Given the description of an element on the screen output the (x, y) to click on. 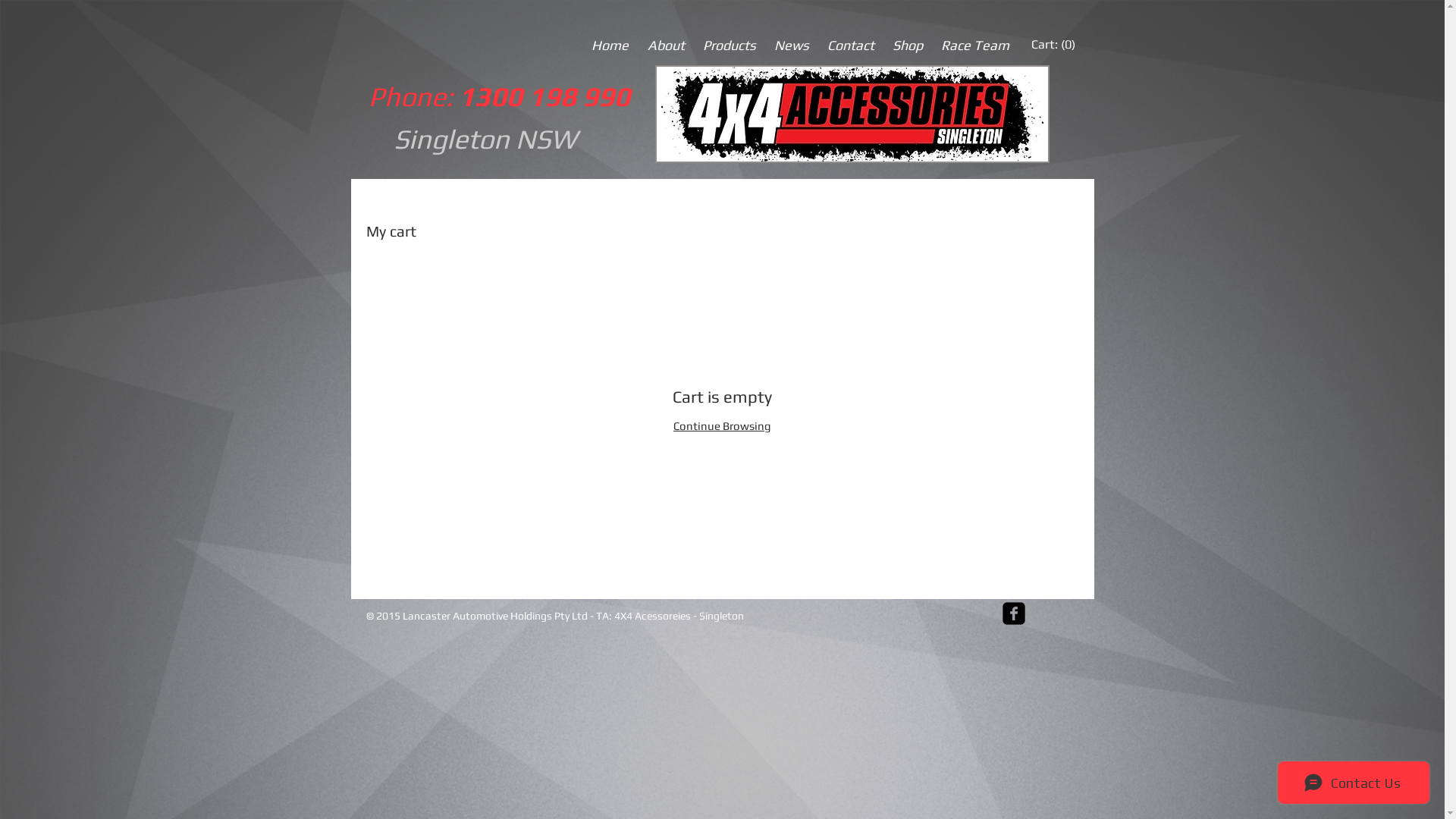
Cart: (0) Element type: text (1053, 44)
About Element type: text (665, 45)
News Element type: text (790, 45)
Home Element type: text (610, 45)
Contact Element type: text (849, 45)
Race Team Element type: text (974, 45)
Shop Element type: text (906, 45)
Continue Browsing Element type: text (722, 425)
4x4 Accessories Singleton Logo-HR.jpg Element type: hover (852, 114)
Products Element type: text (728, 45)
